Given the description of an element on the screen output the (x, y) to click on. 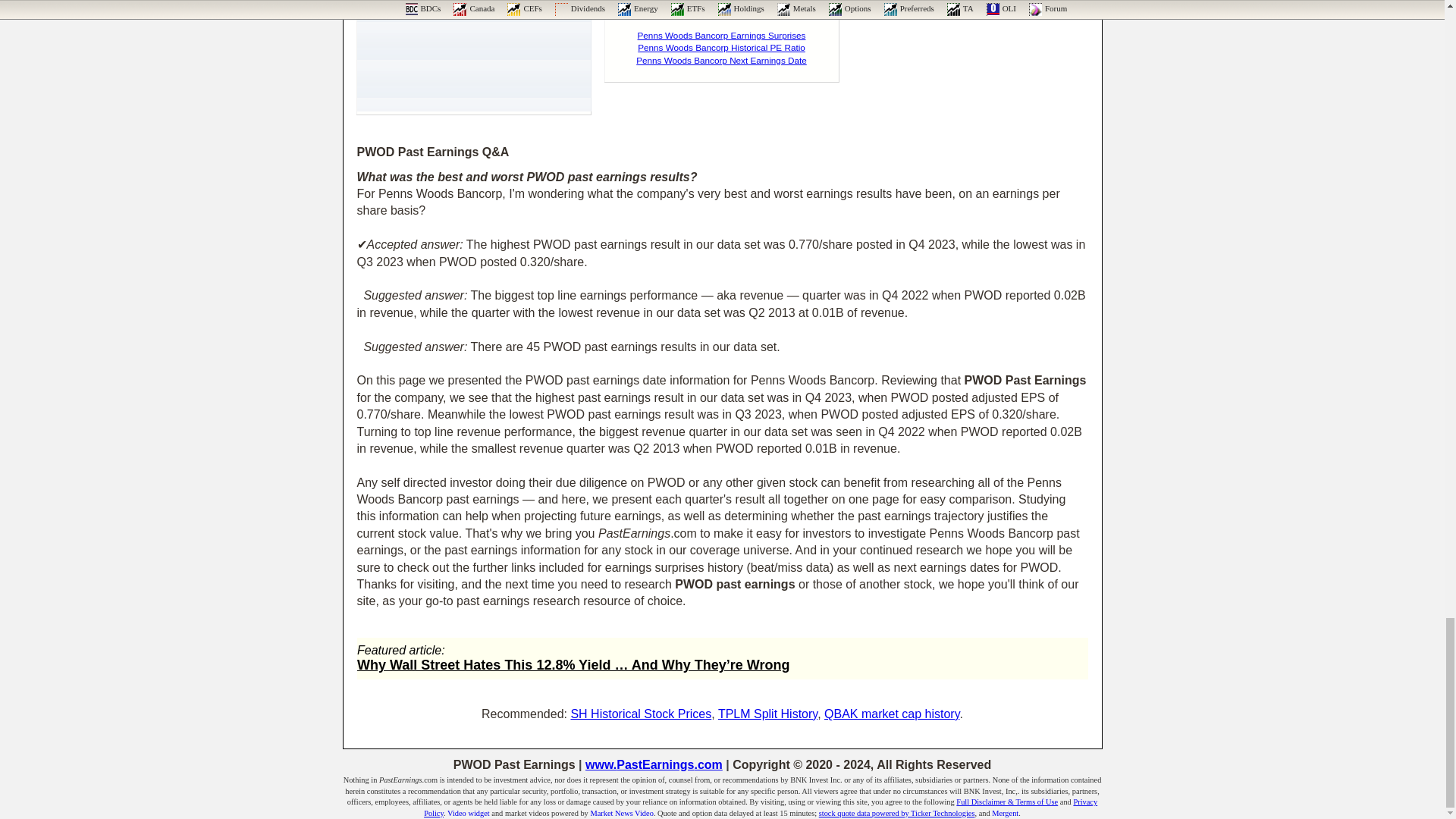
Penns Woods Bancorp Earnings Surprises (721, 35)
Penns Woods Bancorp Next Earnings Date (721, 60)
TPLM Split History (766, 713)
Penns Woods Bancorp Historical PE Ratio (721, 47)
SH Historical Stock Prices (640, 713)
